Given the description of an element on the screen output the (x, y) to click on. 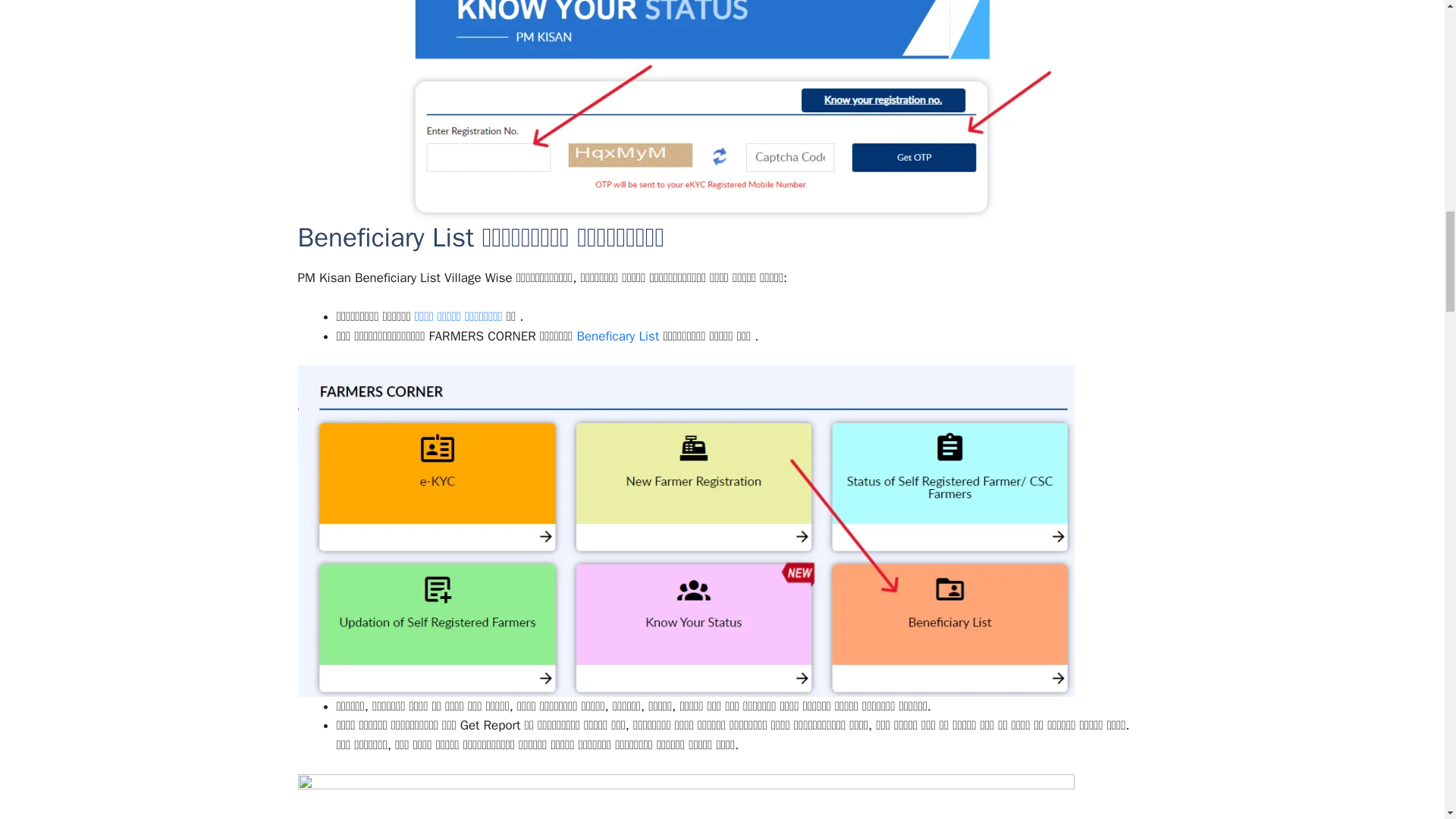
Beneficary List (617, 335)
